Given the description of an element on the screen output the (x, y) to click on. 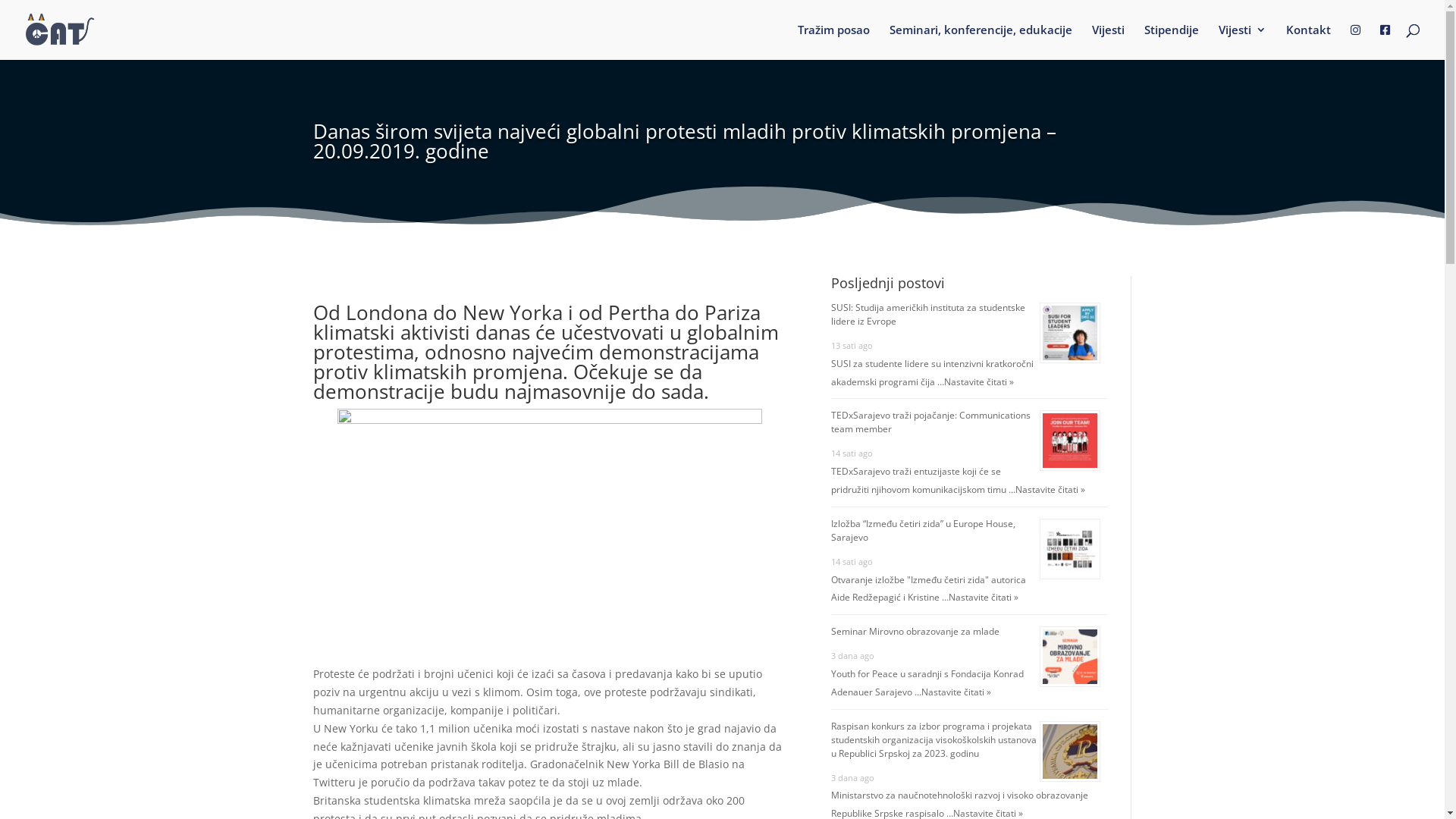
Kontakt Element type: text (1308, 41)
Seminar Mirovno obrazovanje za mlade Element type: text (915, 630)
Vijesti Element type: text (1108, 41)
Seminari, konferencije, edukacije Element type: text (980, 41)
Stipendije Element type: text (1171, 41)
Vijesti Element type: text (1242, 41)
